Given the description of an element on the screen output the (x, y) to click on. 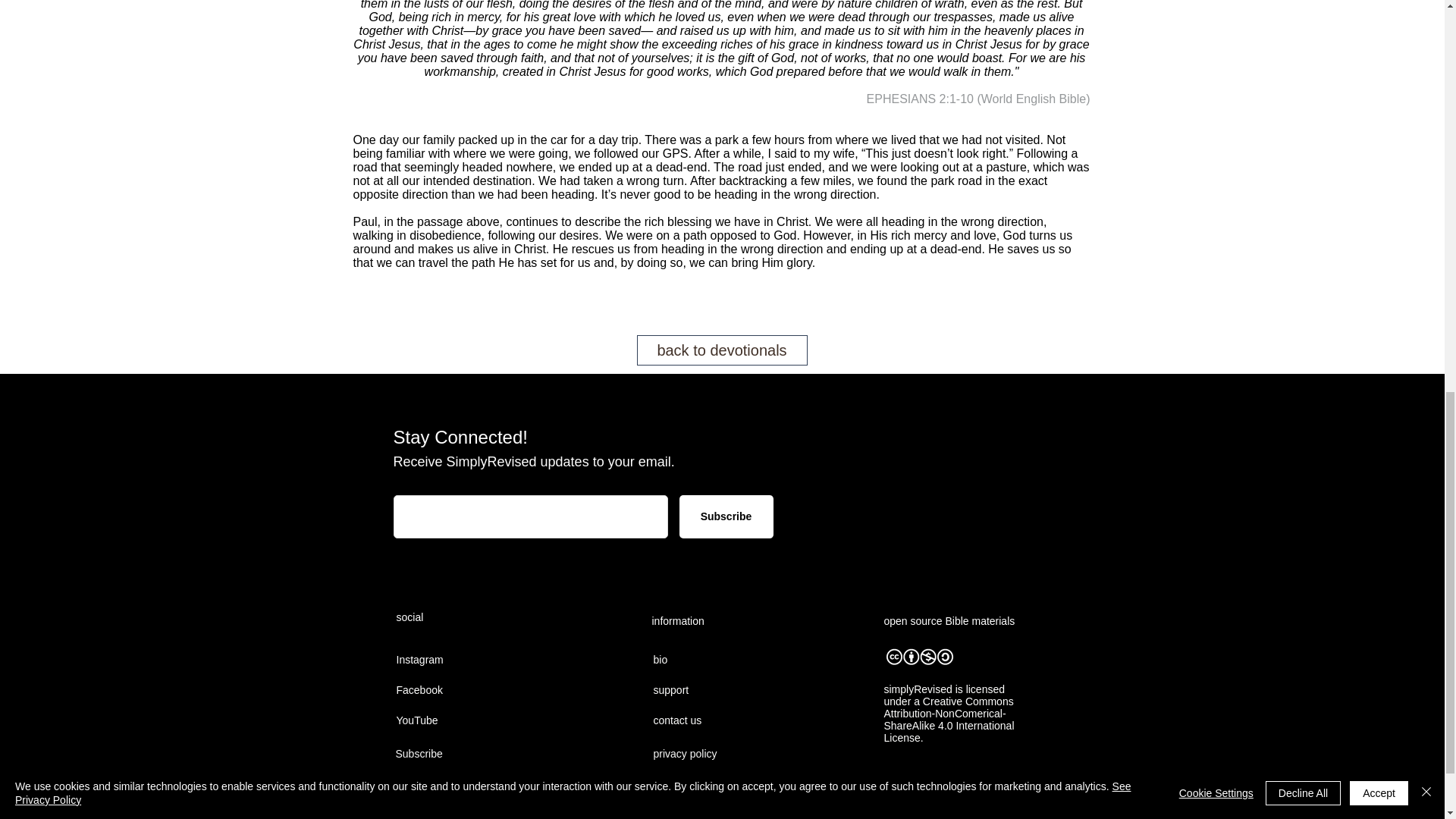
YouTube (449, 720)
Subscribe (726, 516)
contact us (707, 720)
Instagram (449, 660)
privacy policy (702, 754)
support (707, 690)
bio (707, 660)
Subscribe (449, 754)
back to devotionals (722, 349)
